Given the description of an element on the screen output the (x, y) to click on. 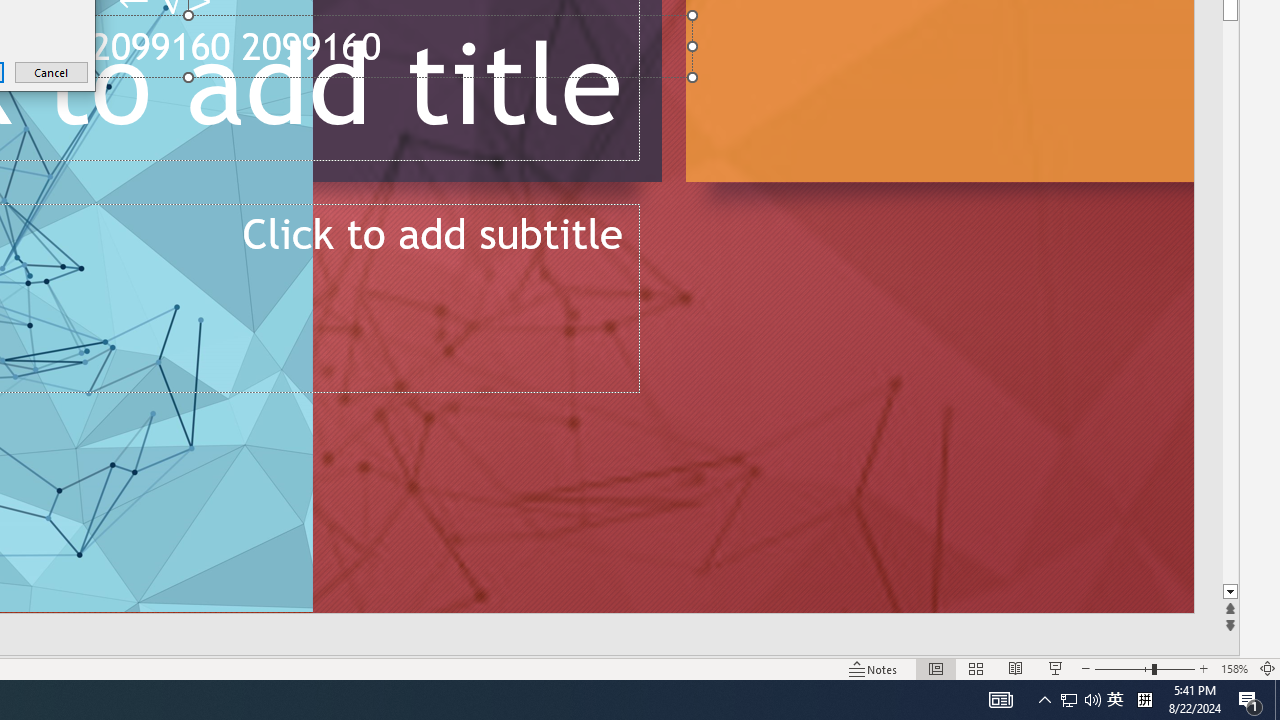
Show desktop (1277, 699)
Notes  (874, 668)
Zoom 158% (1115, 699)
Action Center, 1 new notification (1234, 668)
User Promoted Notification Area (1250, 699)
AutomationID: 4105 (1080, 699)
Cancel (1000, 699)
